Given the description of an element on the screen output the (x, y) to click on. 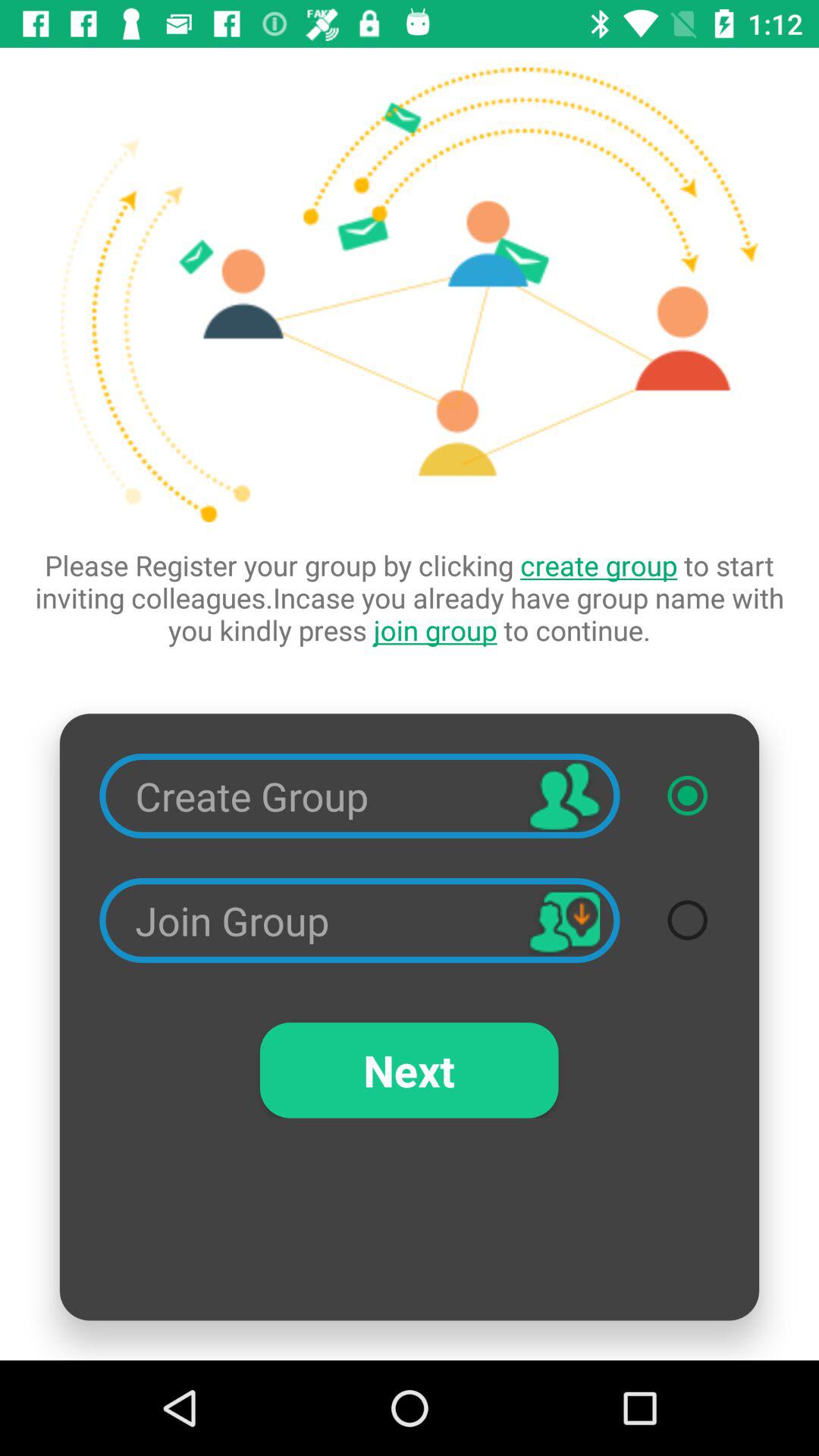
open icon above the create group icon (409, 597)
